Given the description of an element on the screen output the (x, y) to click on. 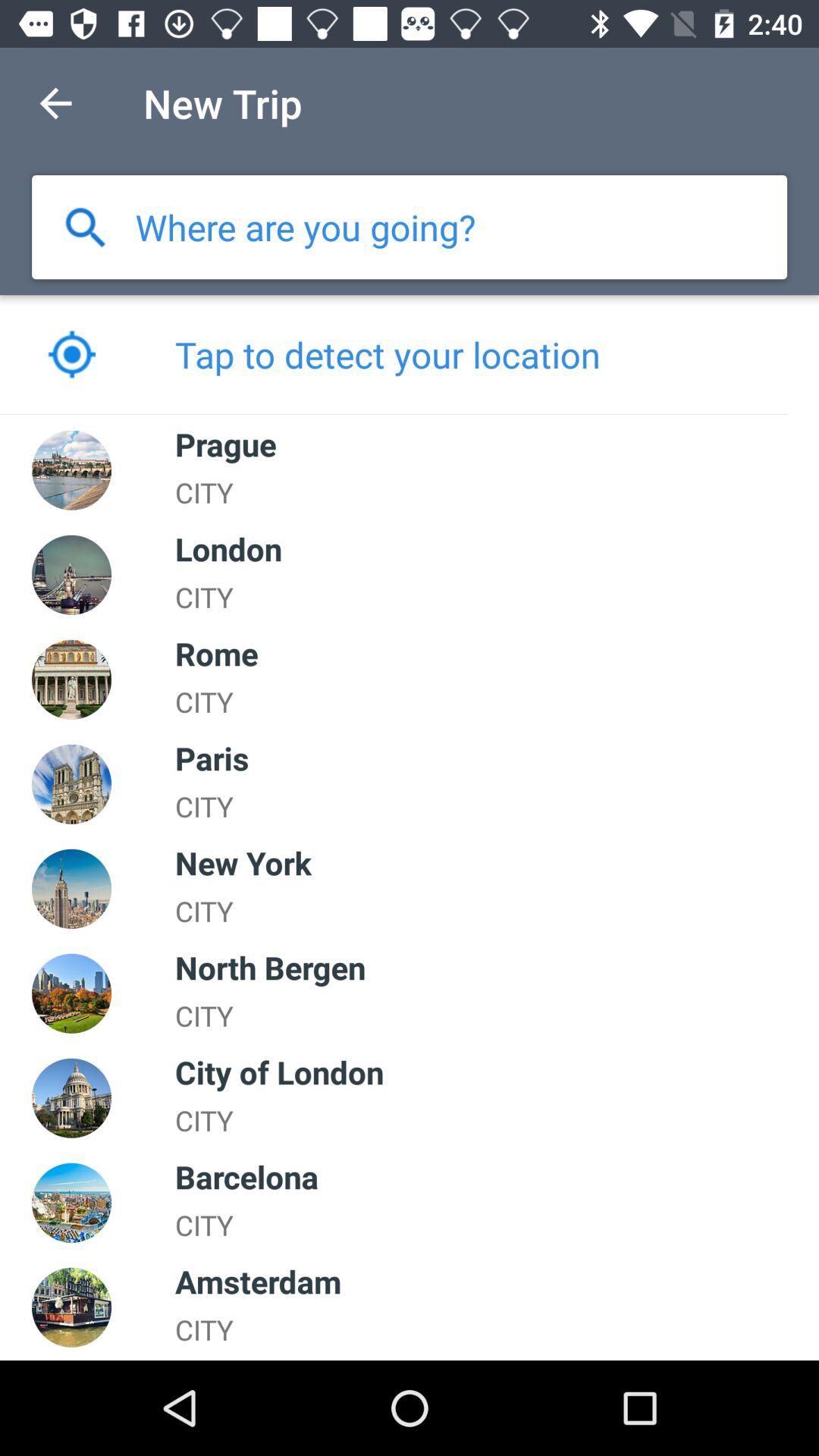
search for destination (305, 227)
